Given the description of an element on the screen output the (x, y) to click on. 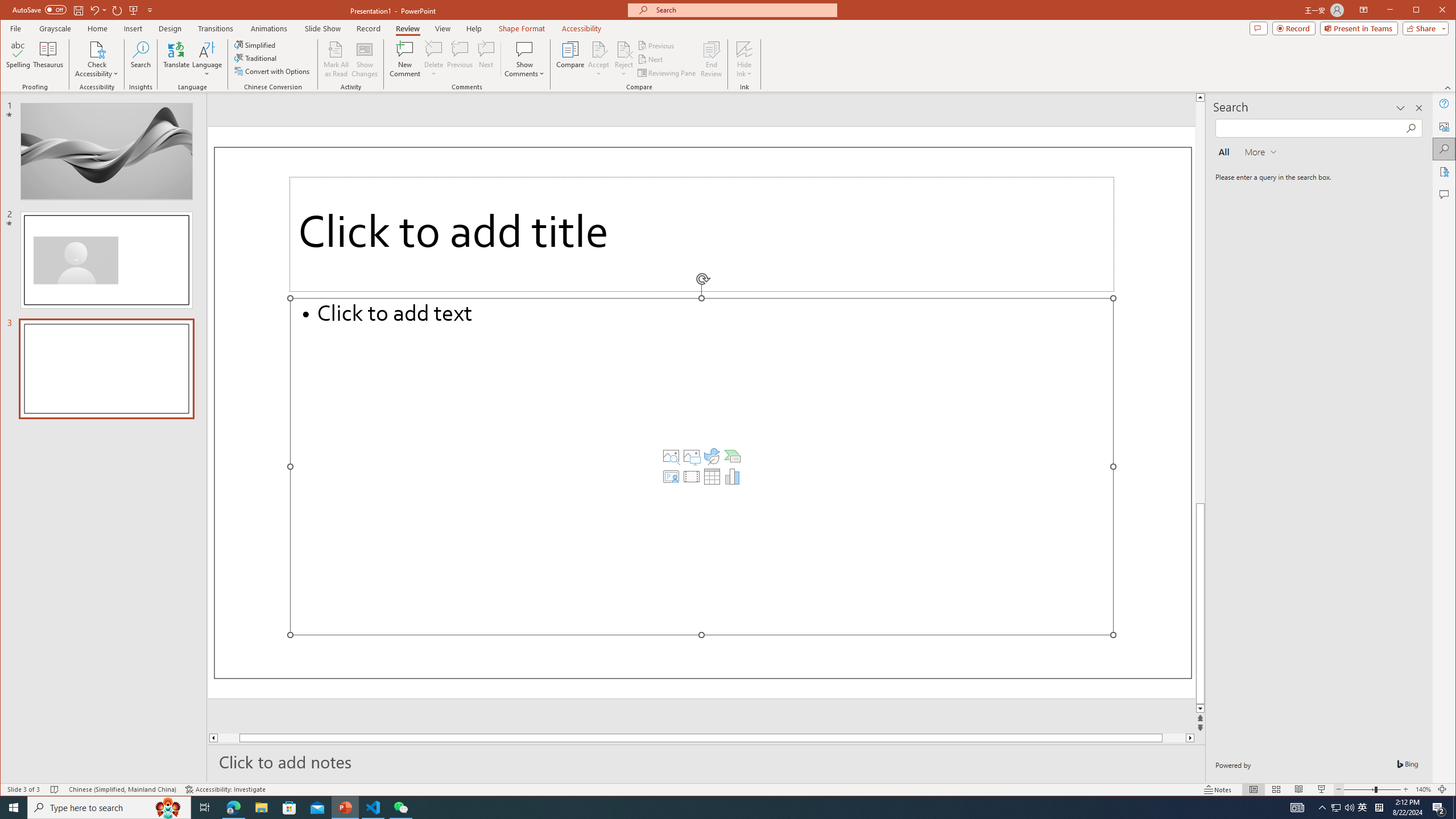
Alt Text (1444, 125)
End Review (710, 59)
Spell Check No Errors (1335, 807)
AutomationID: 4105 (55, 789)
Close pane (1297, 807)
Convert with Options... (1418, 107)
Task Pane Options (272, 70)
